Given the description of an element on the screen output the (x, y) to click on. 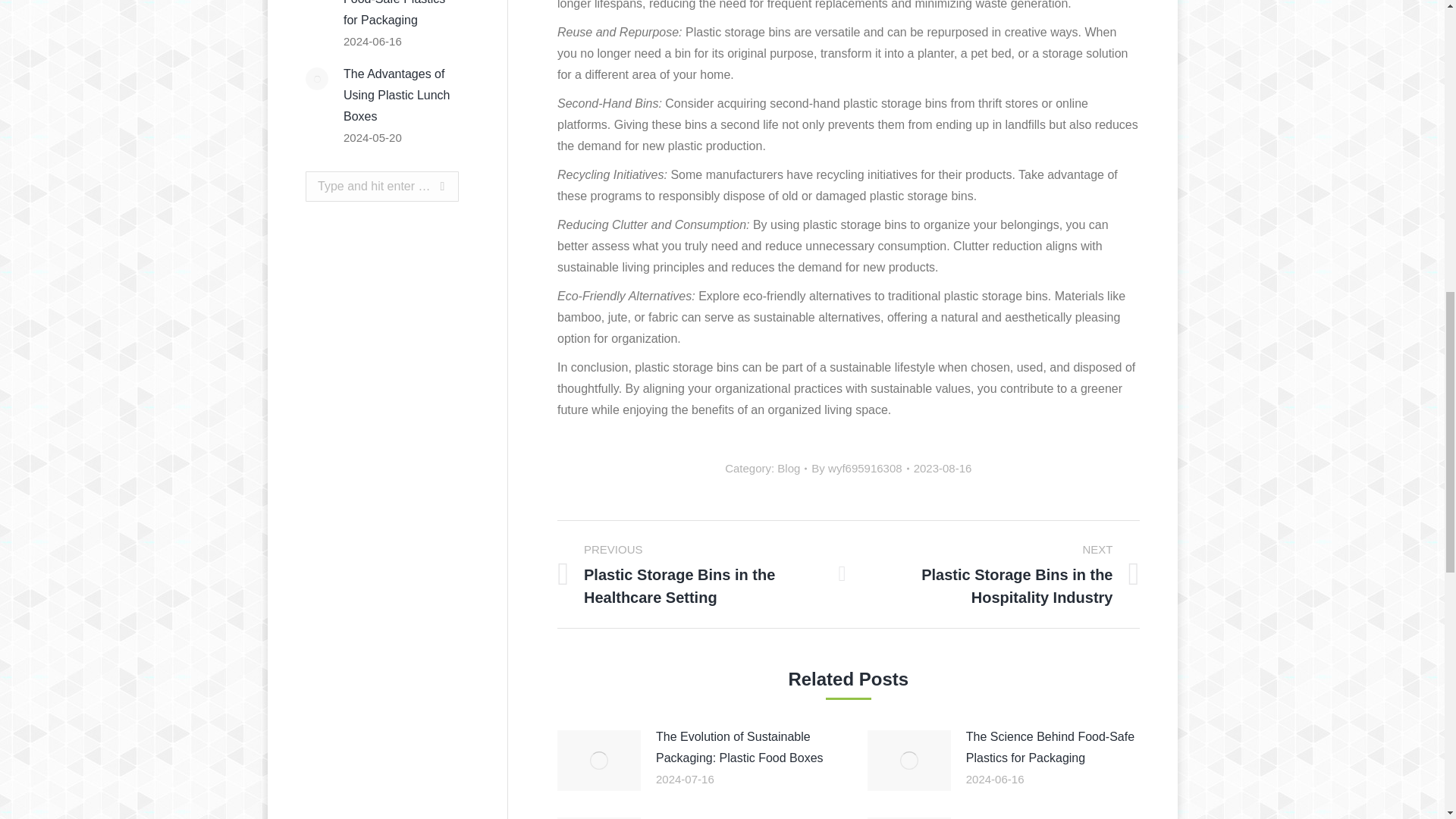
Go! (428, 186)
Go! (428, 186)
View all posts by wyf695916308 (859, 468)
17:04 (943, 468)
